Given the description of an element on the screen output the (x, y) to click on. 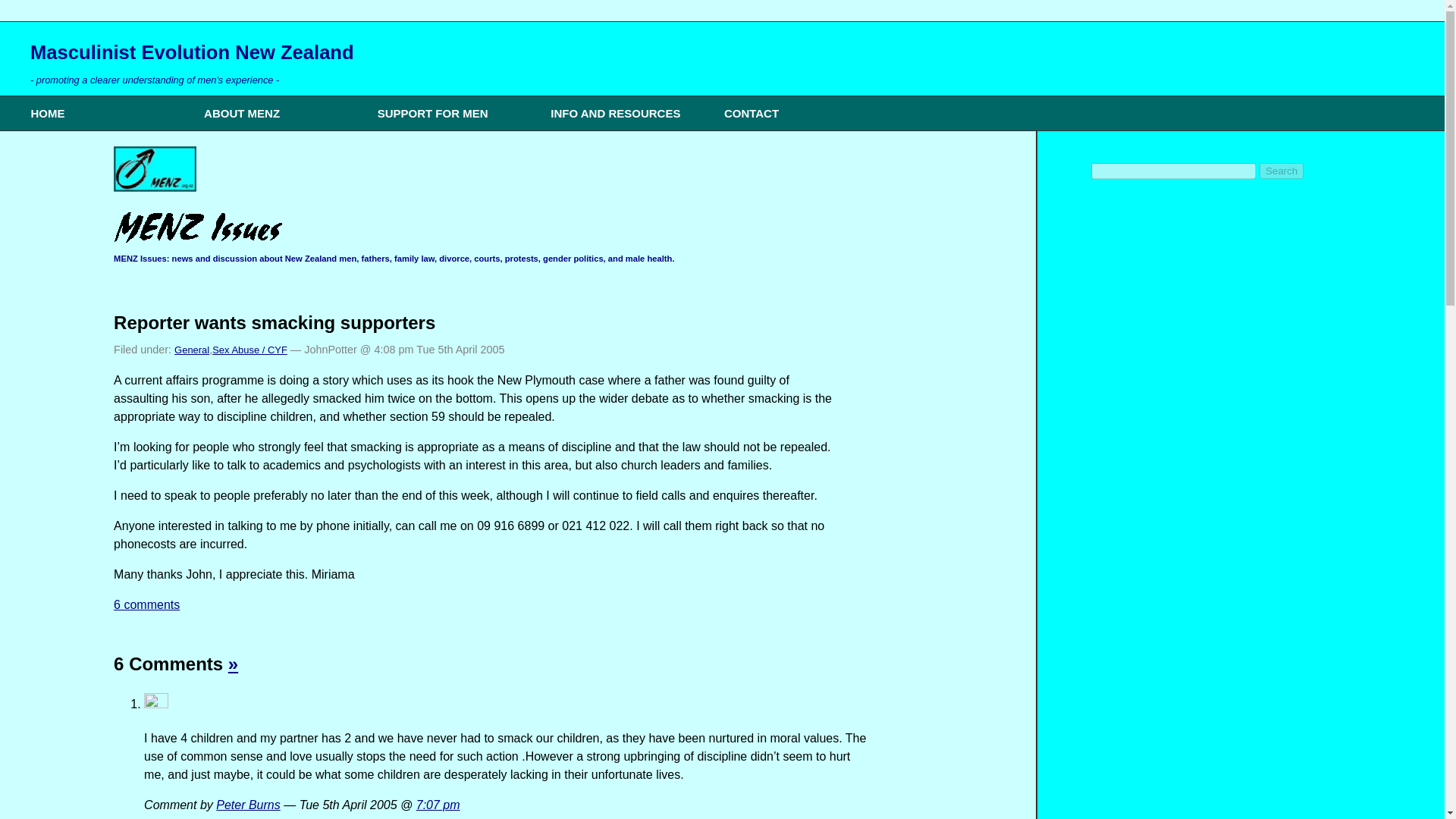
Latest MENZ Issues Posting (154, 168)
7:07 pm (438, 804)
ABOUT MENZ (280, 113)
General (191, 349)
INFO AND RESOURCES (627, 113)
CONTACT (799, 113)
HOME (106, 113)
Search (1281, 170)
Search (1281, 170)
SUPPORT FOR MEN (453, 113)
